Given the description of an element on the screen output the (x, y) to click on. 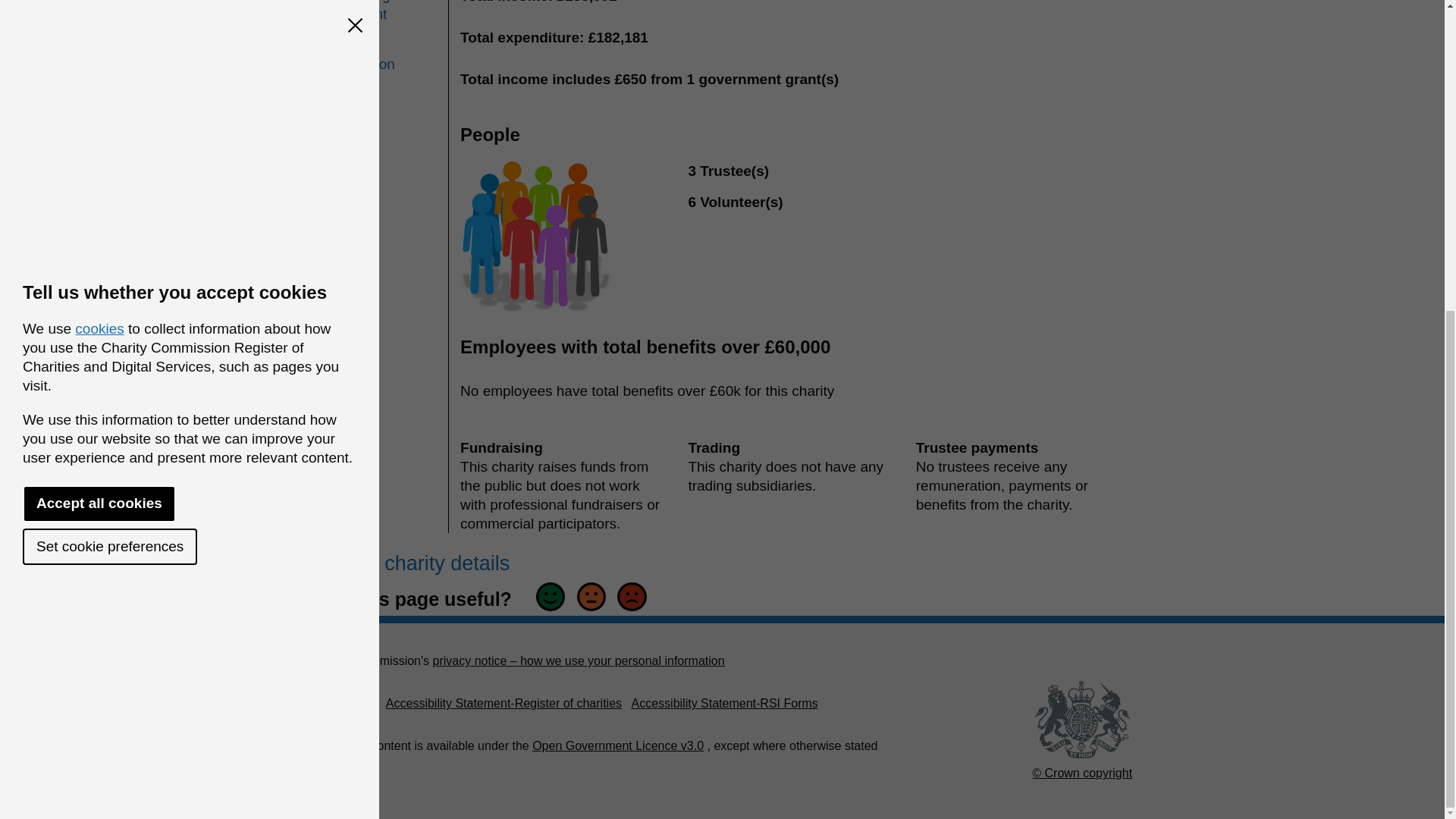
Cookies (334, 703)
Print charity details (416, 563)
Accessibility Statement-RSI Forms (723, 703)
Set cookie preferences (109, 52)
Contact information (379, 54)
Accessibility Statement-Register of charities (503, 703)
Open Government Licence v3.0 (617, 745)
Governing document (379, 11)
Accept all cookies (99, 14)
